Given the description of an element on the screen output the (x, y) to click on. 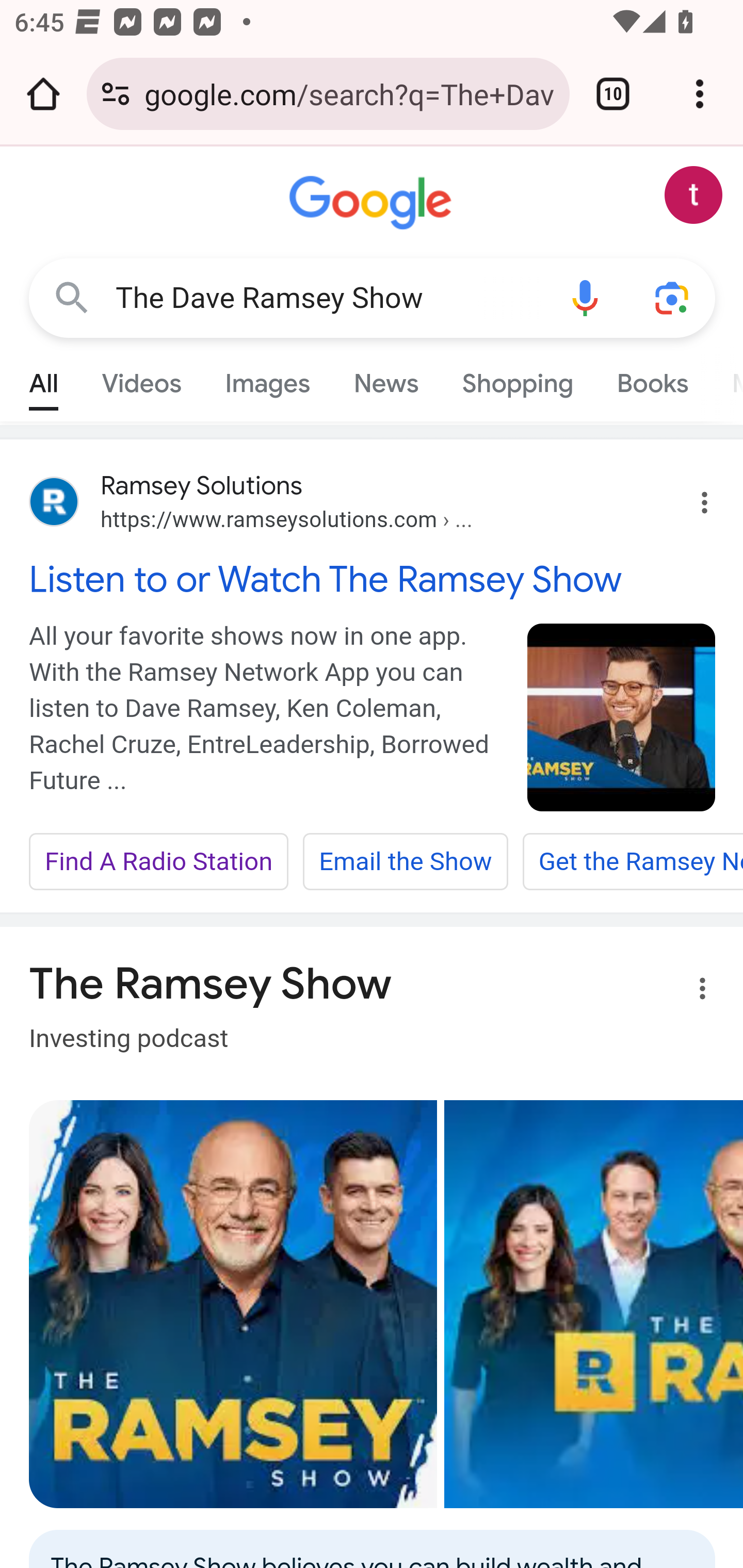
Open the home page (43, 93)
Connection is secure (115, 93)
Switch or close tabs (612, 93)
Customize and control Google Chrome (699, 93)
Google (372, 203)
Google Search (71, 296)
Search using your camera or photos (672, 296)
The Dave Ramsey Show (328, 297)
Videos (141, 378)
Images (267, 378)
News (385, 378)
Shopping (516, 378)
Books (652, 378)
Listen to or Watch The Ramsey Show (372, 579)
the-ramsey-show (621, 717)
Find A Radio Station (158, 862)
Email the Show (404, 862)
Get the Ramsey Network App (632, 862)
More options (690, 991)
Ramsey Network - Ramsey (233, 1303)
The Ramsey Show - KXRO News Radio (593, 1303)
